Given the description of an element on the screen output the (x, y) to click on. 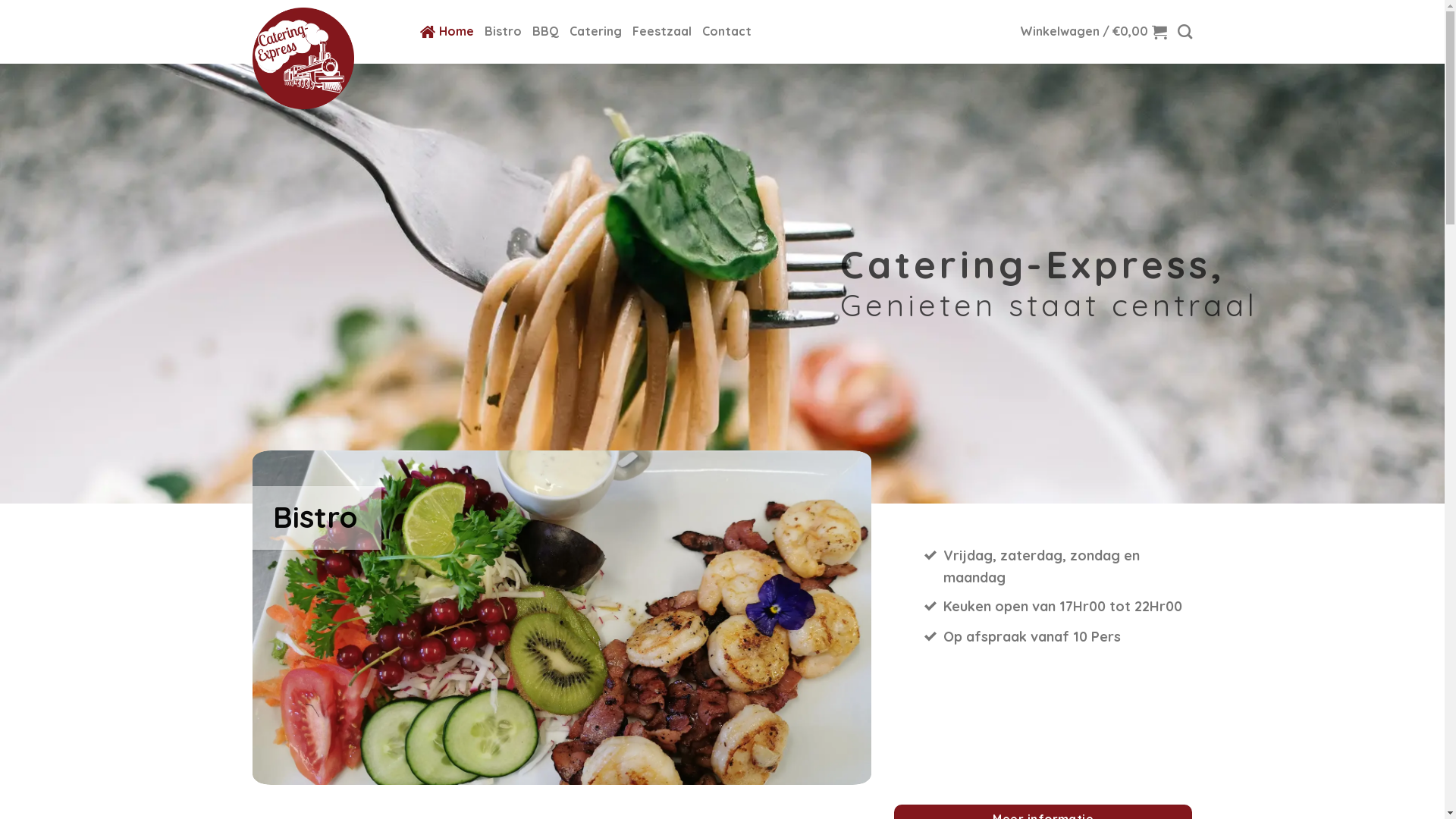
Feestzaal Element type: text (661, 31)
Bistro Element type: text (501, 31)
Vrijdag, zaterdag, zondag en maandag Element type: text (1058, 566)
Catering Element type: text (594, 31)
Home Element type: text (446, 31)
Keuken open van 17Hr00 tot 22Hr00 Element type: text (1058, 607)
Op afspraak vanaf 10 Pers Element type: text (1058, 637)
BBQ Element type: text (545, 31)
Contact Element type: text (726, 31)
Catering-Express - uw cateraar in Zonhoven Element type: hover (323, 58)
